Given the description of an element on the screen output the (x, y) to click on. 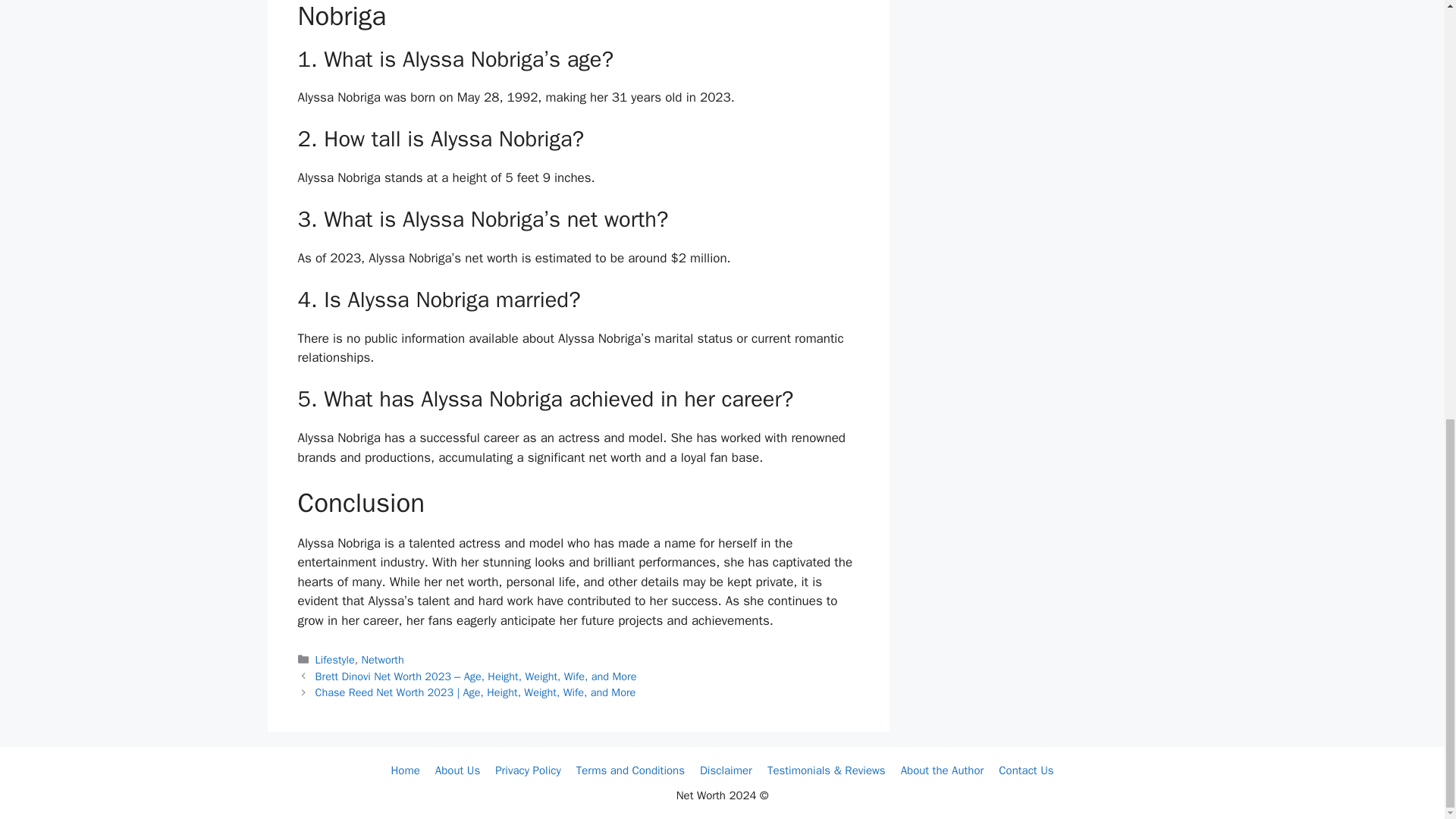
Terms and Conditions (630, 770)
Networth (382, 659)
Privacy Policy (527, 770)
About Us (457, 770)
Scroll back to top (1406, 680)
Disclaimer (726, 770)
Lifestyle (335, 659)
Home (404, 770)
